Given the description of an element on the screen output the (x, y) to click on. 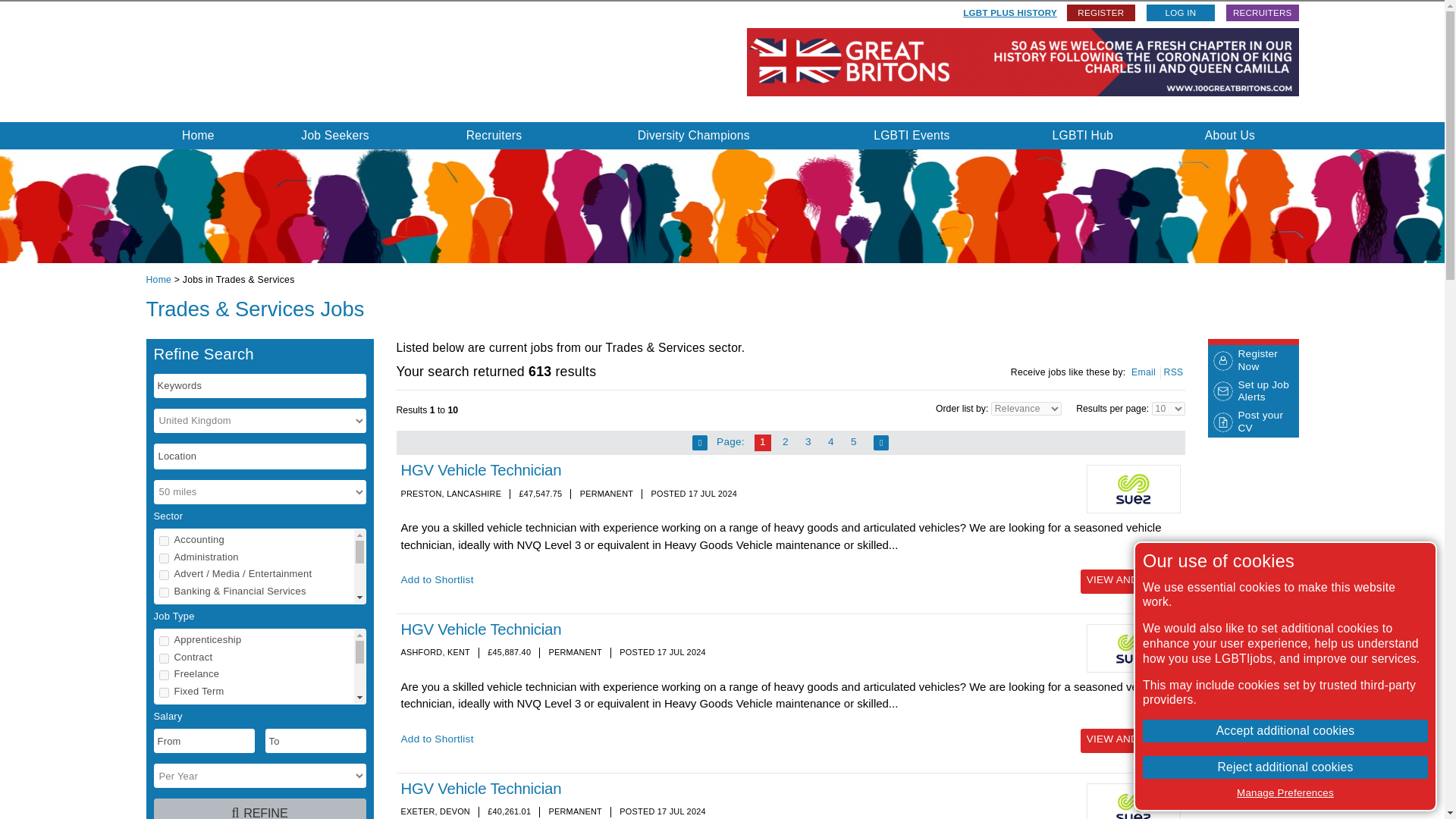
About Us (1229, 135)
Diversity Champions (693, 135)
Reject additional cookies (1285, 766)
14 (163, 780)
Accept additional cookies (1285, 730)
4 (163, 592)
10 (163, 712)
Recruiters (493, 135)
5 (163, 609)
3 (163, 574)
REGISTER (1101, 12)
13 (163, 764)
7 (163, 660)
1 (163, 541)
LGBTI Events (911, 135)
